Given the description of an element on the screen output the (x, y) to click on. 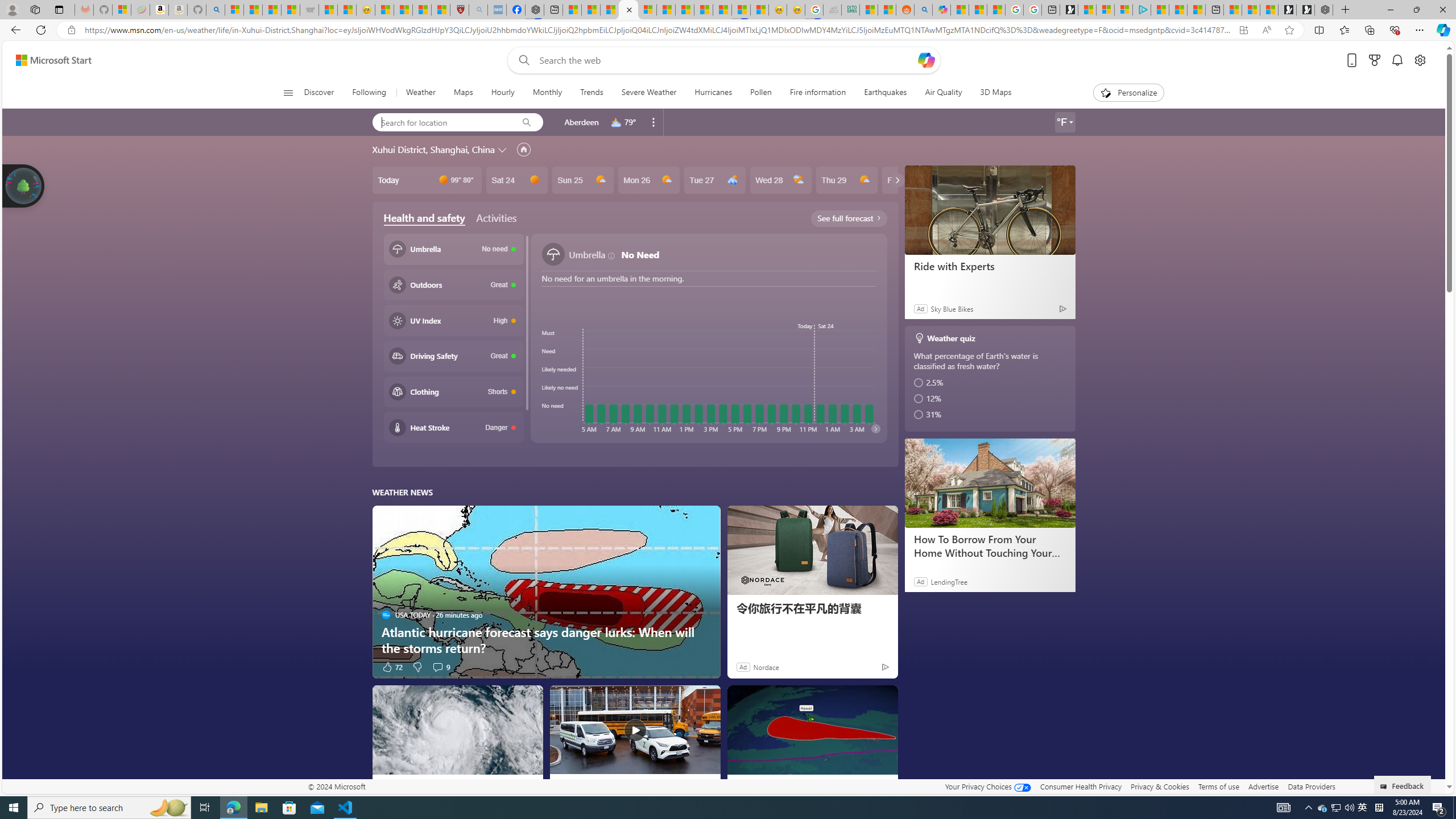
Data Providers (1311, 785)
Mon 26 (648, 180)
Thu 29 (846, 180)
Fire information (817, 92)
Tue 27 (714, 180)
Sun 25 (581, 180)
